Given the description of an element on the screen output the (x, y) to click on. 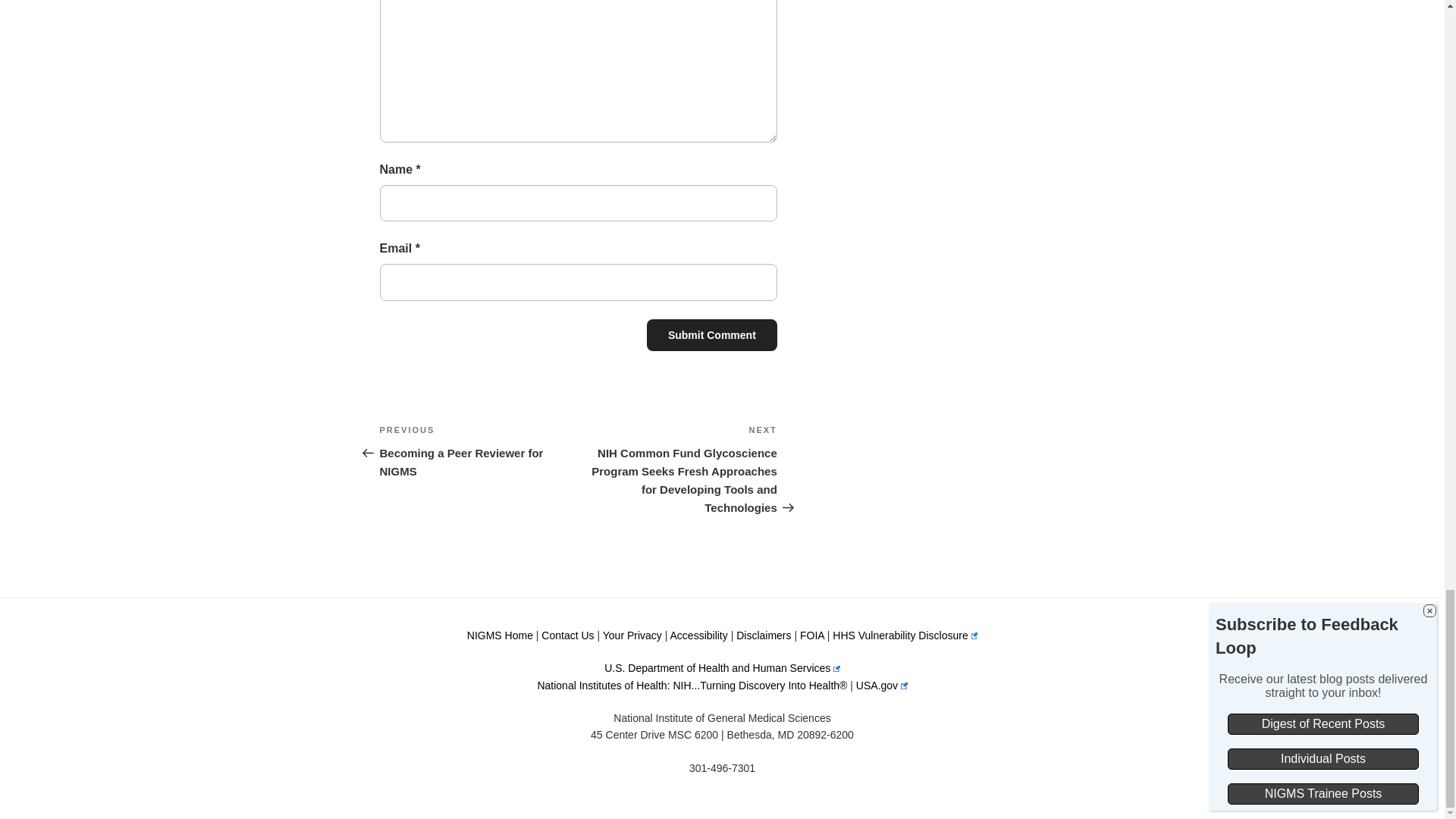
Previous Icon (368, 452)
Submit Comment (711, 335)
Submit Comment (711, 335)
Next Icon (788, 507)
